Given the description of an element on the screen output the (x, y) to click on. 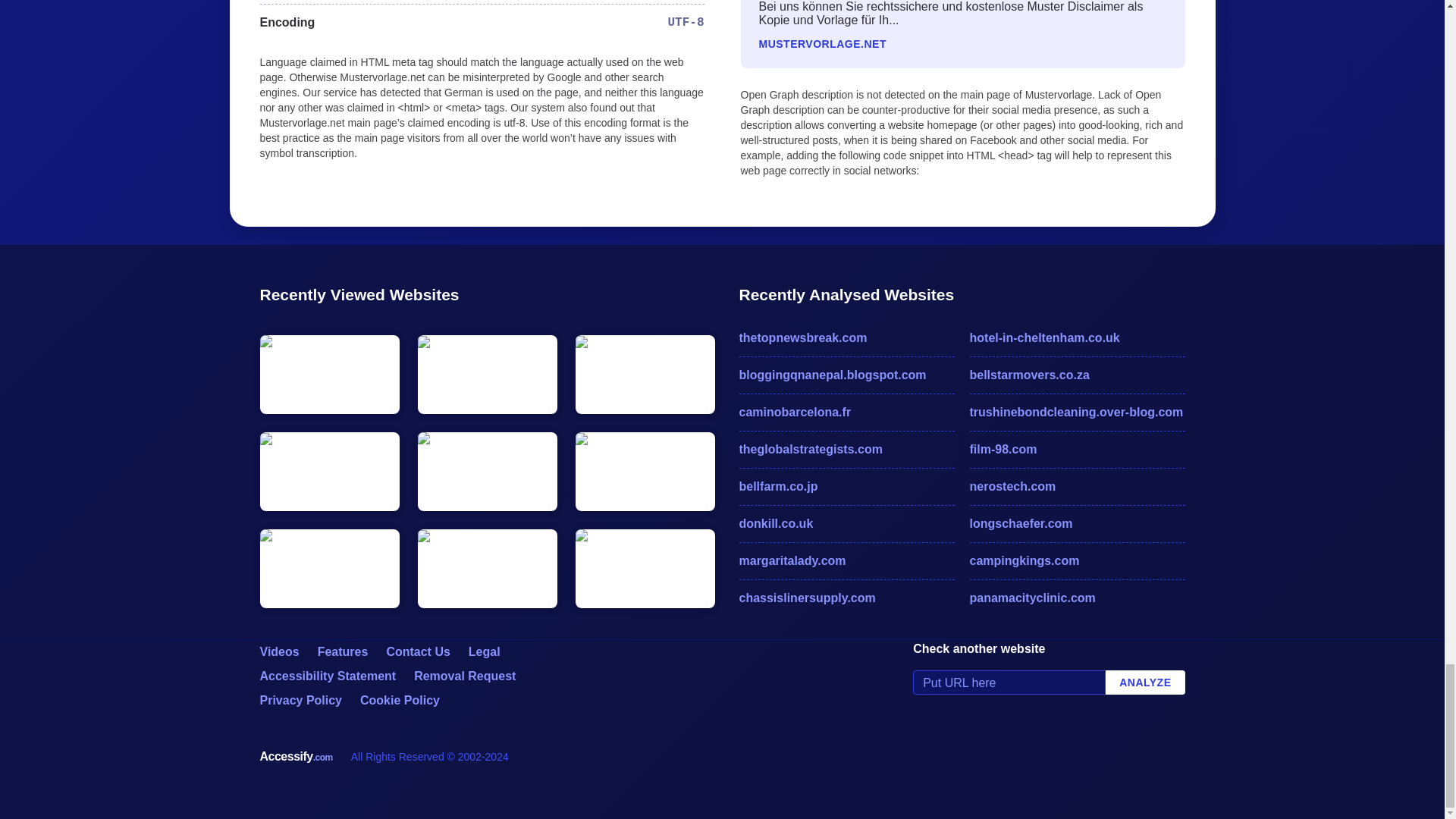
nerostech.com (1077, 486)
theglobalstrategists.com (845, 449)
thetopnewsbreak.com (845, 338)
bellstarmovers.co.za (1077, 375)
caminobarcelona.fr (845, 412)
hotel-in-cheltenham.co.uk (1077, 338)
film-98.com (1077, 449)
Videos (278, 651)
Legal (484, 651)
panamacityclinic.com (1077, 597)
